Given the description of an element on the screen output the (x, y) to click on. 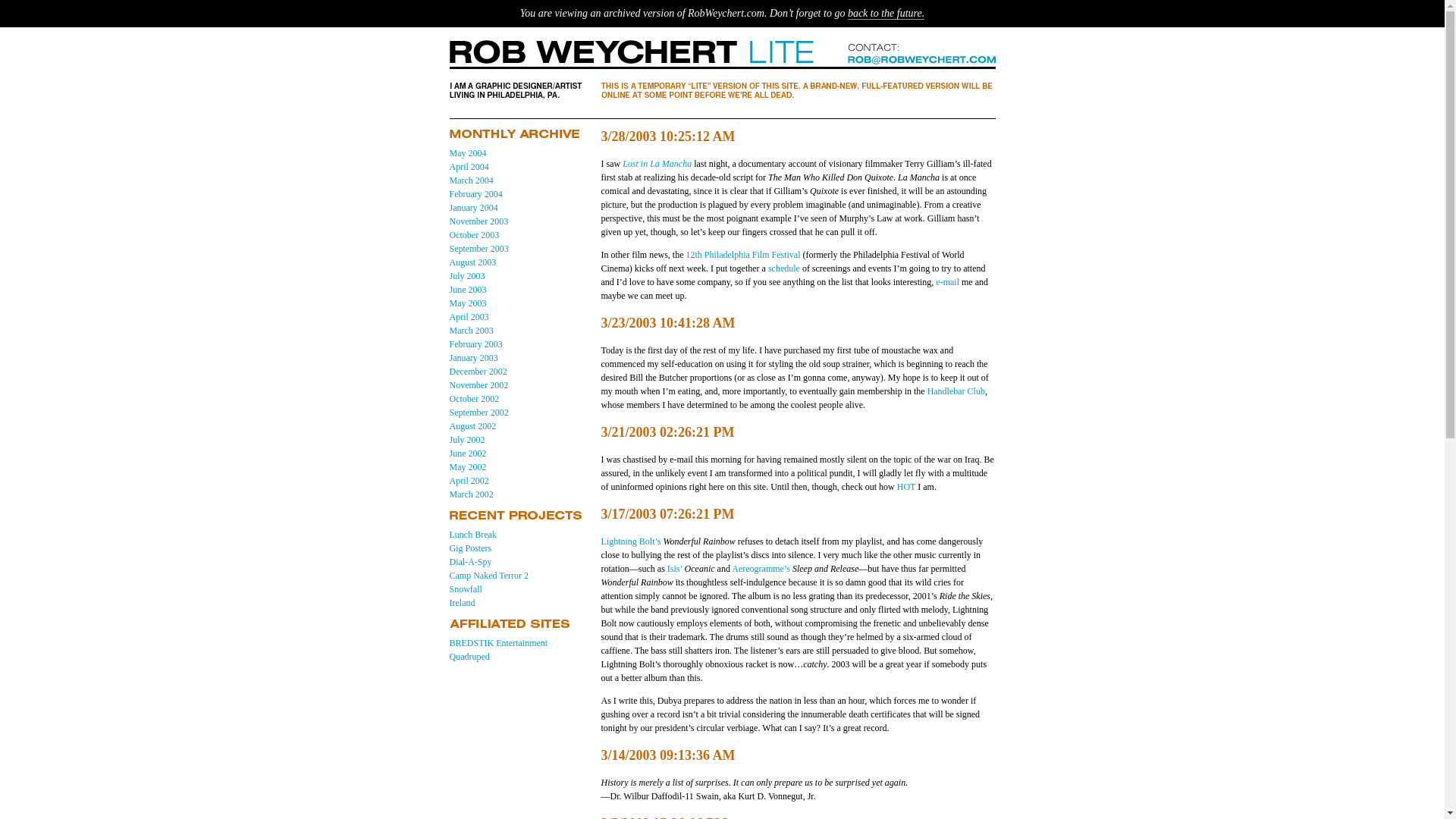
December 2002 (477, 371)
Ireland (461, 602)
May 2002 (467, 466)
November 2003 (478, 221)
March 2004 (470, 180)
Camp Naked Terror 2 (488, 575)
November 2002 (478, 385)
Snowfall (464, 588)
July 2002 (466, 439)
March 2002 (470, 493)
Lost in La Mancha (657, 163)
July 2003 (466, 276)
Gig Posters (470, 547)
February 2003 (475, 344)
June 2003 (467, 289)
